Given the description of an element on the screen output the (x, y) to click on. 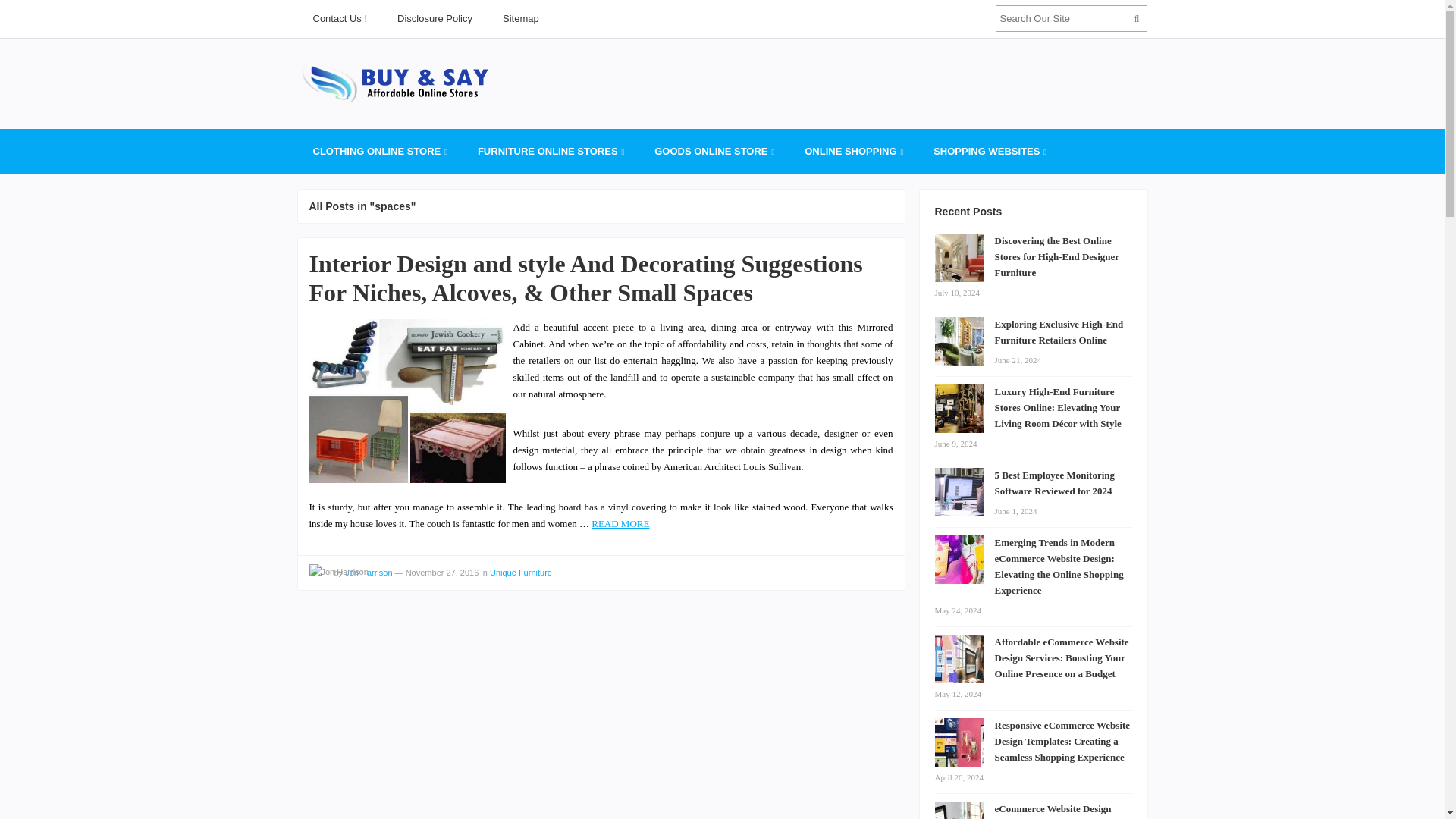
Disclosure Policy (434, 18)
Contact Us ! (339, 18)
Sitemap (520, 18)
